Given the description of an element on the screen output the (x, y) to click on. 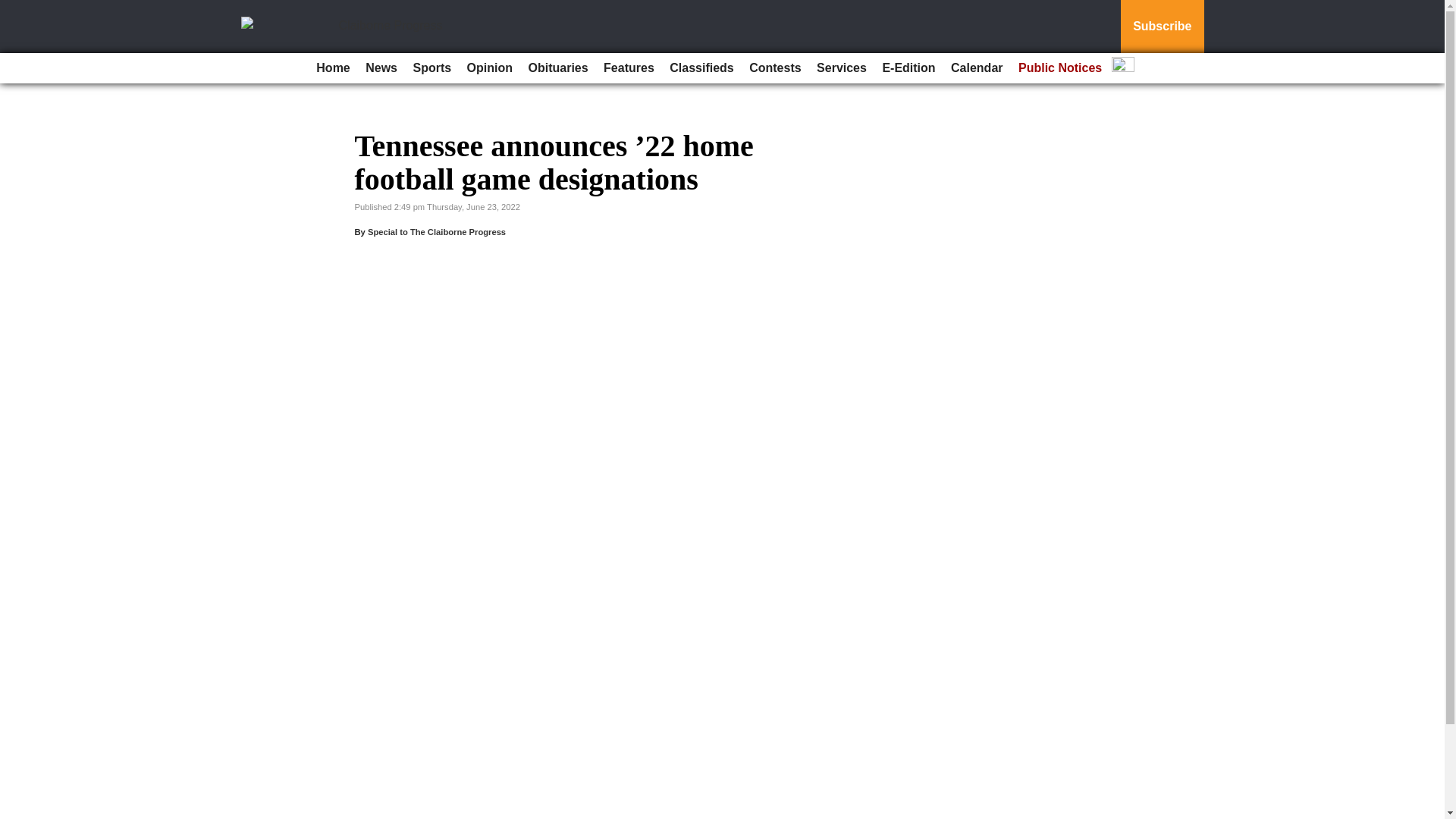
Home (332, 68)
Classifieds (701, 68)
News (381, 68)
Services (841, 68)
Obituaries (557, 68)
Calendar (976, 68)
Subscribe (1162, 26)
Special to The Claiborne Progress (436, 231)
Opinion (489, 68)
Go (13, 9)
